Given the description of an element on the screen output the (x, y) to click on. 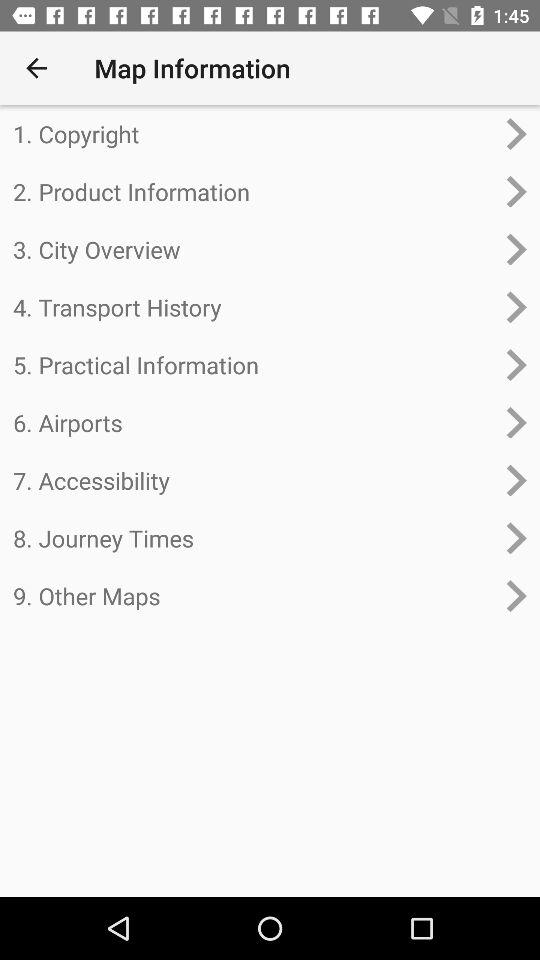
flip until the 5. practical information (253, 364)
